Given the description of an element on the screen output the (x, y) to click on. 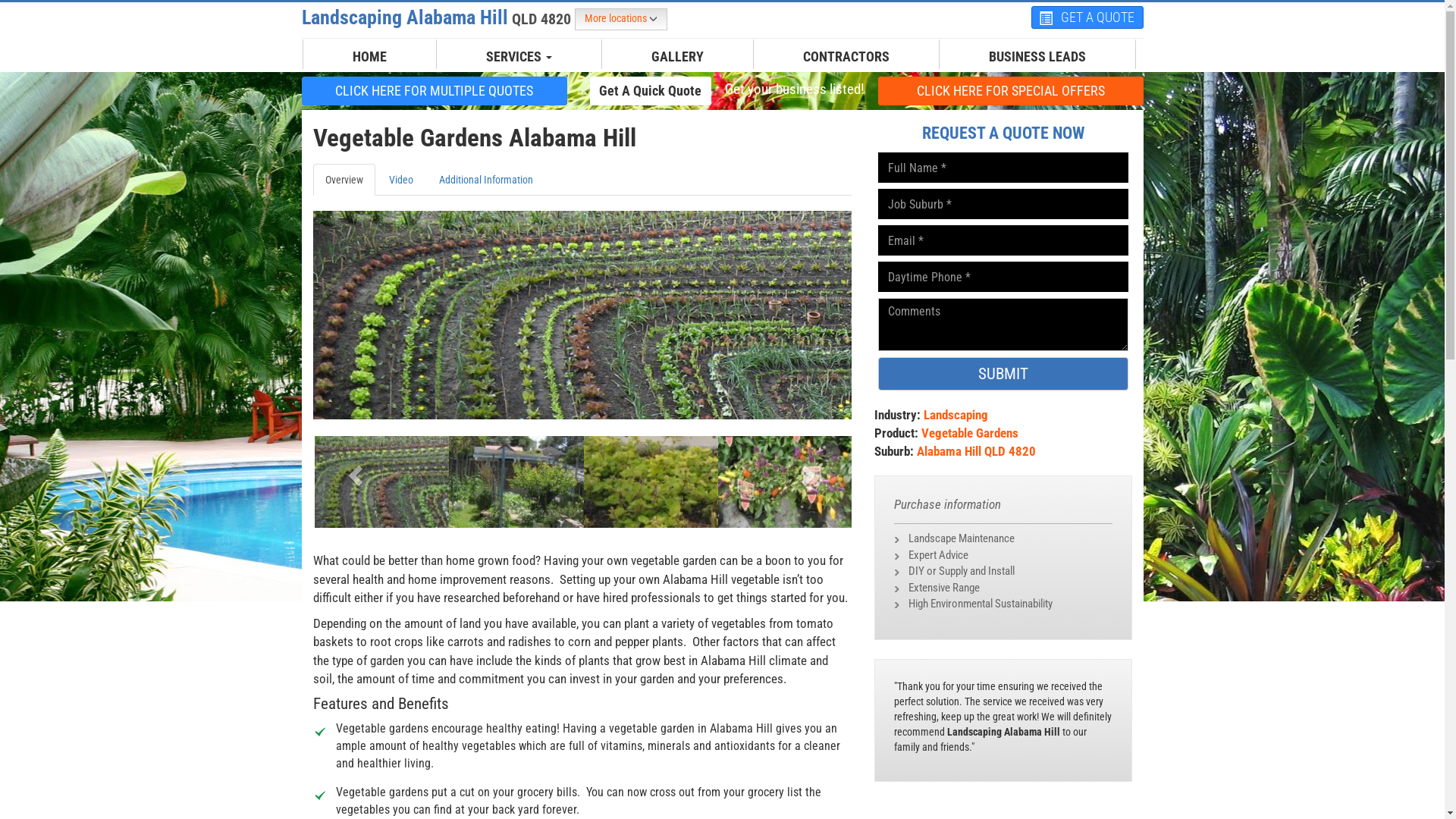
SUBMIT Element type: text (1003, 373)
Get A Quick Quote Element type: text (650, 90)
GET A QUOTE Element type: text (1087, 17)
More locations Element type: text (620, 19)
CLICK HERE FOR SPECIAL OFFERS Element type: text (1010, 90)
CONTRACTORS Element type: text (845, 56)
Get A Quick Quote Element type: text (650, 90)
GALLERY Element type: text (677, 56)
Video Element type: text (400, 179)
CLICK HERE FOR SPECIAL OFFERS Element type: text (1010, 90)
CLICK HERE FOR MULTIPLE QUOTES Element type: text (434, 90)
Additional Information Element type: text (485, 179)
CLICK HERE FOR MULTIPLE QUOTES Element type: text (434, 90)
prev Element type: hover (352, 470)
Landscaping Alabama Hill QLD 4820 Element type: text (437, 17)
Overview Element type: text (343, 179)
HOME Element type: text (369, 56)
BUSINESS LEADS Element type: text (1036, 56)
Get your business listed! Element type: text (793, 89)
SERVICES Element type: text (518, 56)
